Given the description of an element on the screen output the (x, y) to click on. 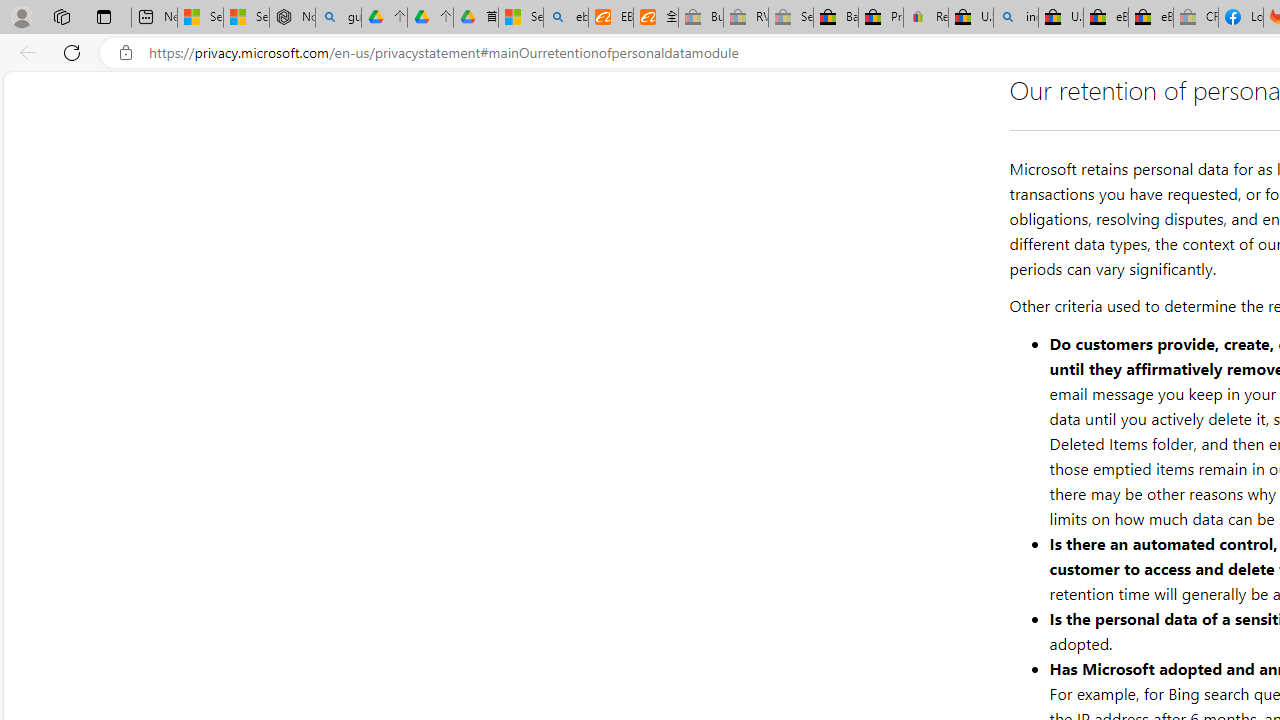
Press Room - eBay Inc. (880, 17)
including - Search (1016, 17)
eBay Inc. Reports Third Quarter 2023 Results (1150, 17)
Buy Auto Parts & Accessories | eBay - Sleeping (700, 17)
